Given the description of an element on the screen output the (x, y) to click on. 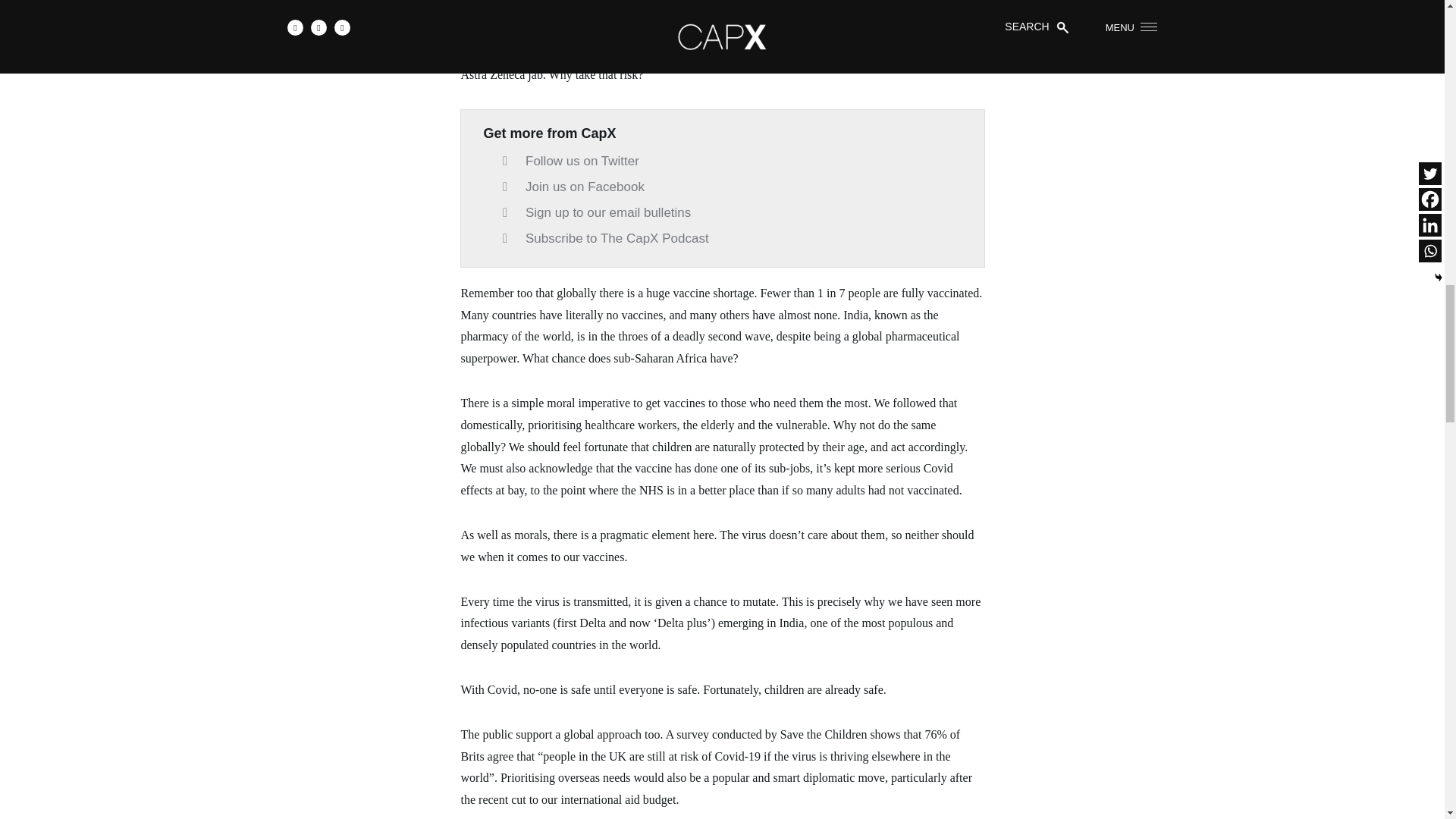
Sign up to our email bulletins (596, 212)
Follow us on Twitter (570, 160)
Subscribe to The CapX Podcast (605, 237)
Join us on Facebook (573, 186)
